Given the description of an element on the screen output the (x, y) to click on. 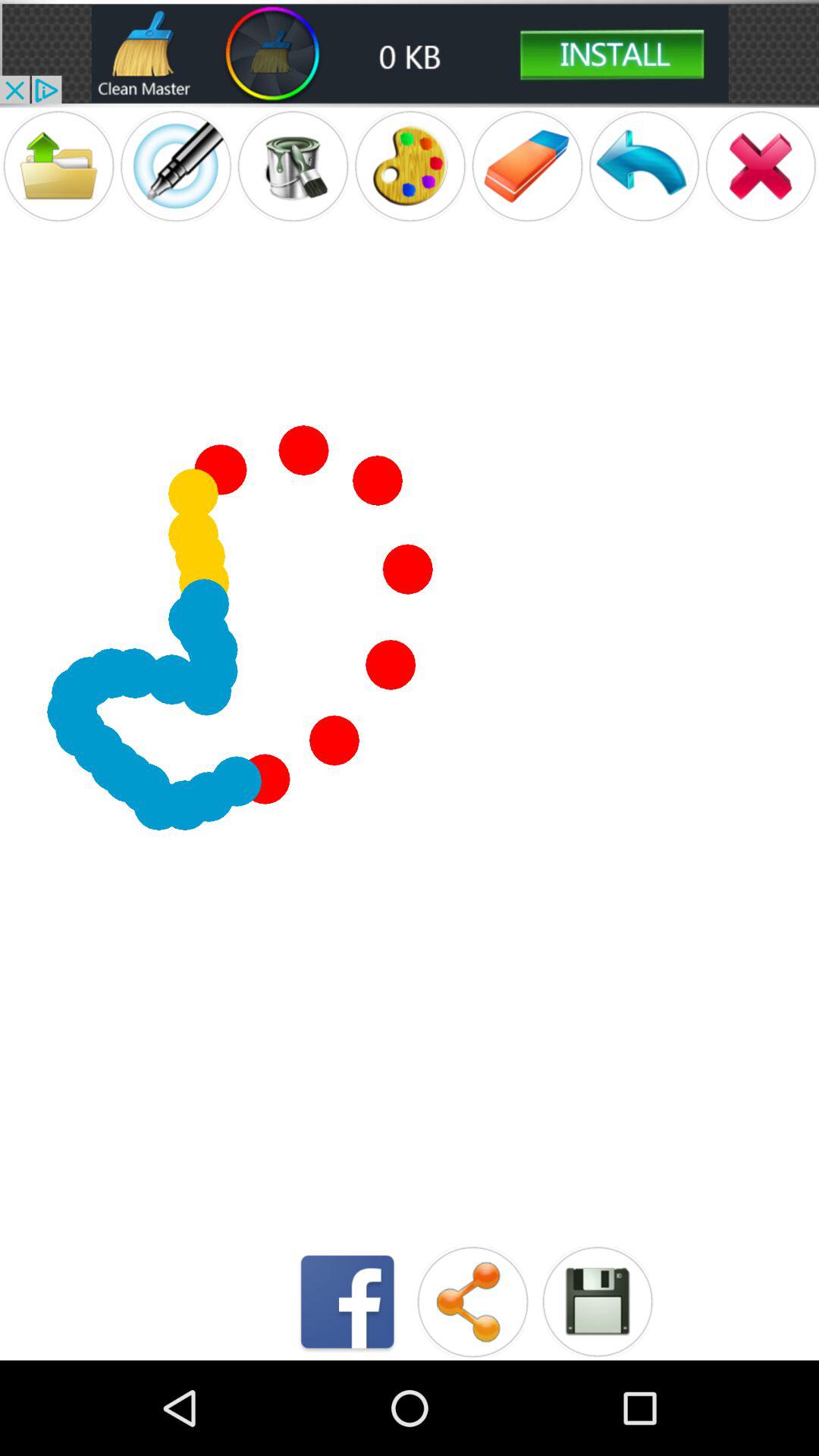
delete option (760, 165)
